Given the description of an element on the screen output the (x, y) to click on. 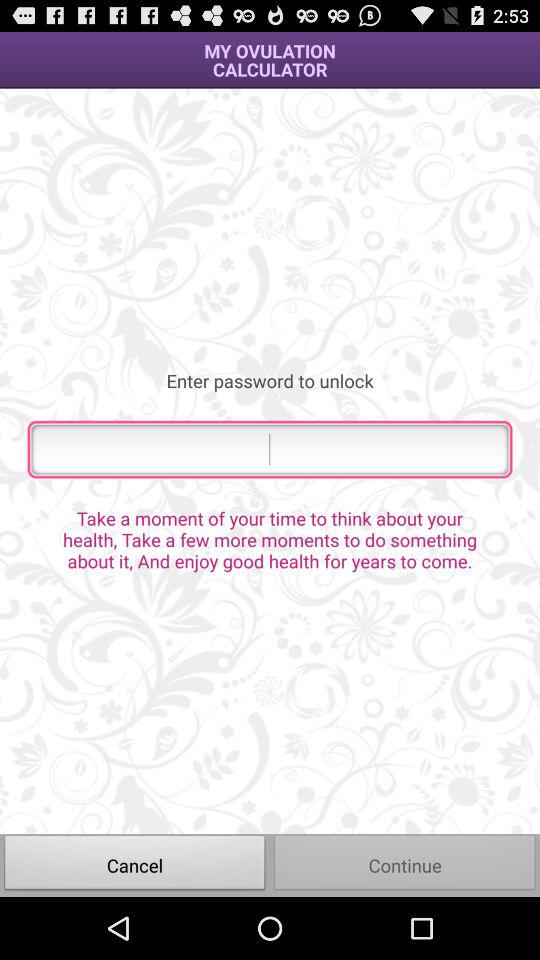
flip until the cancel (135, 864)
